Given the description of an element on the screen output the (x, y) to click on. 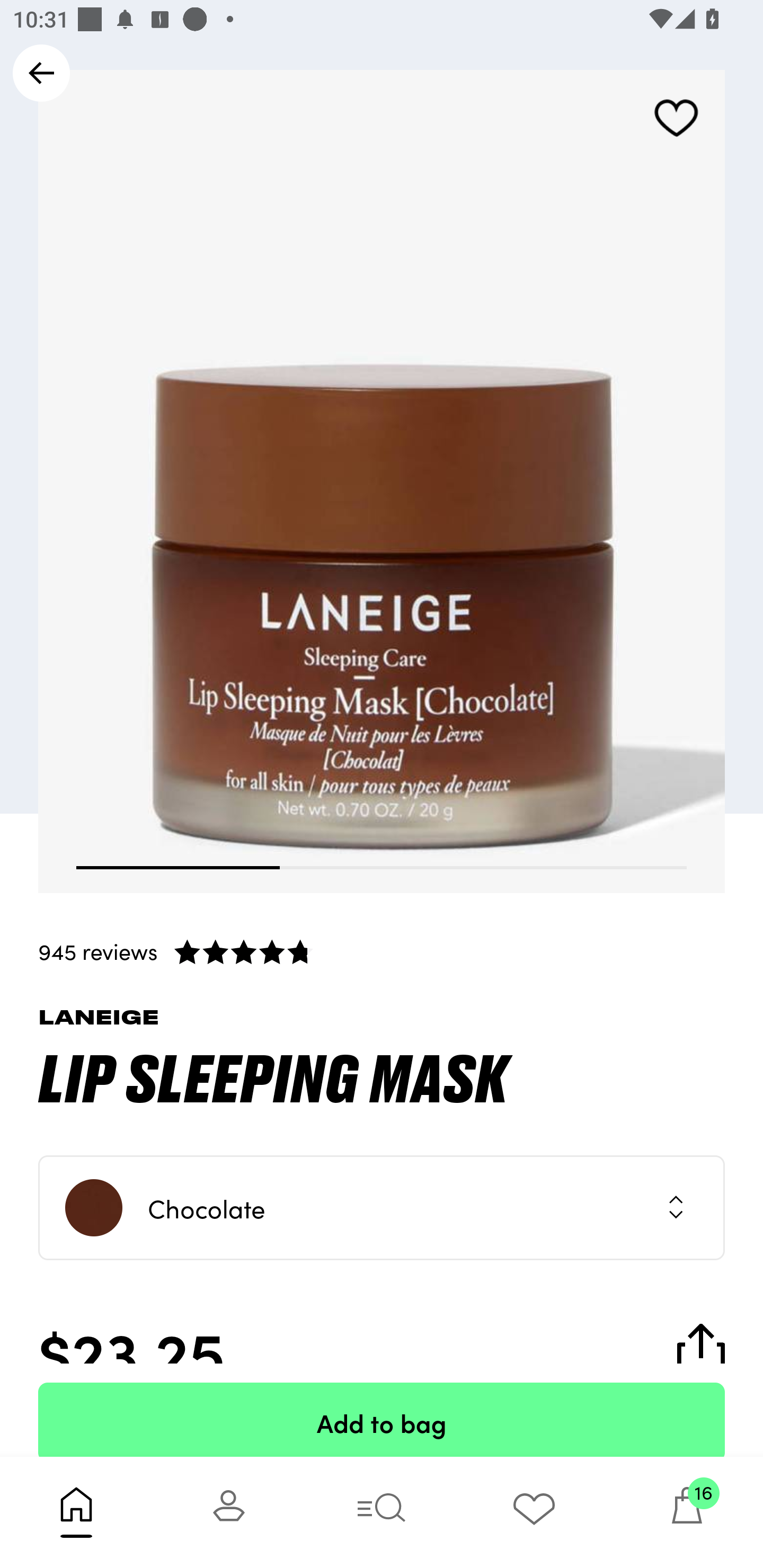
945 reviews (381, 950)
Chocolate  (381, 1207)
Add to bag (381, 1419)
16 (686, 1512)
